Given the description of an element on the screen output the (x, y) to click on. 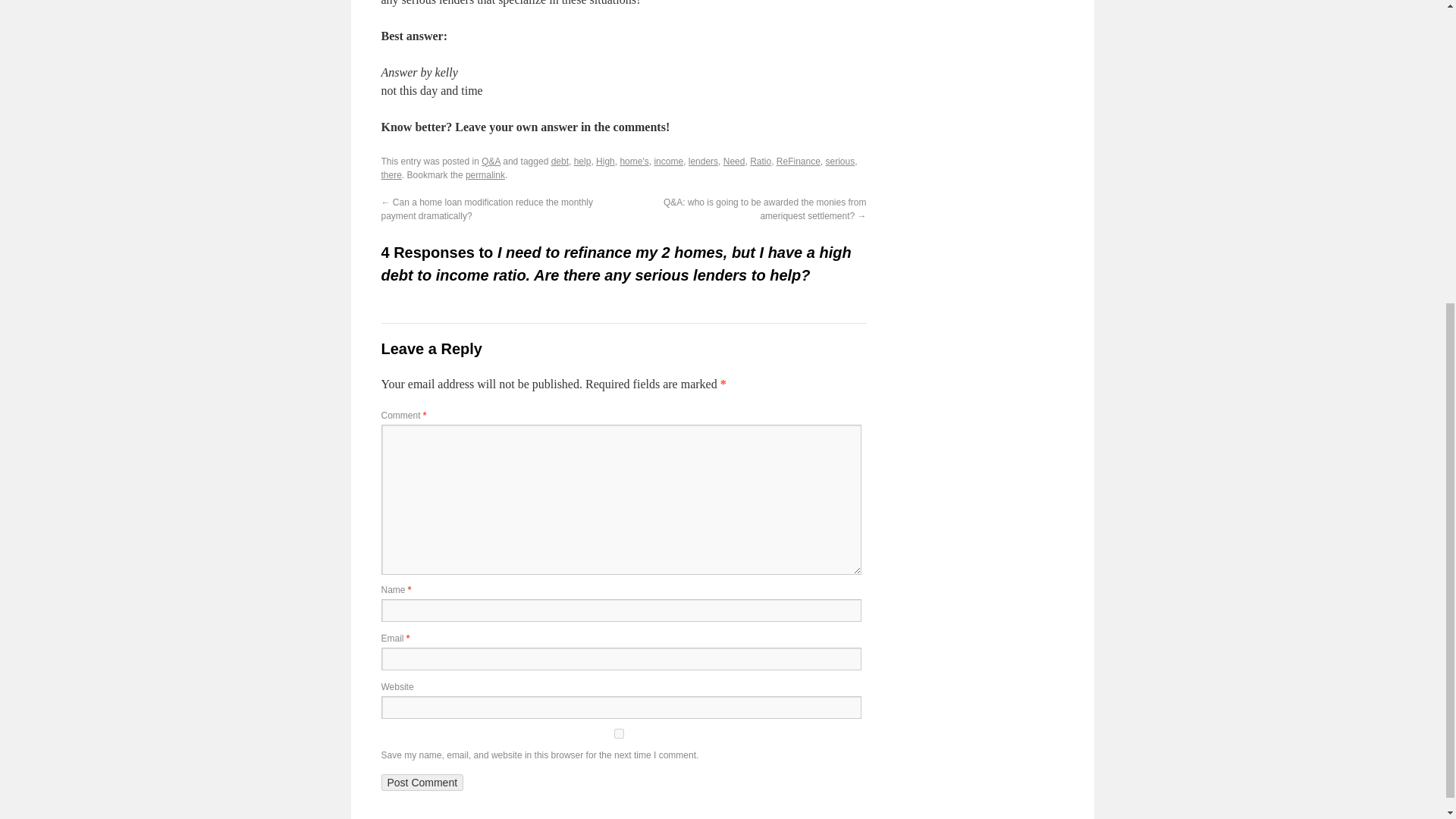
debt (560, 161)
ReFinance (798, 161)
Post Comment (421, 782)
help (582, 161)
permalink (485, 174)
High (604, 161)
Ratio (760, 161)
home's (633, 161)
income (667, 161)
yes (618, 733)
Need (734, 161)
Post Comment (421, 782)
serious (840, 161)
there (390, 174)
